Given the description of an element on the screen output the (x, y) to click on. 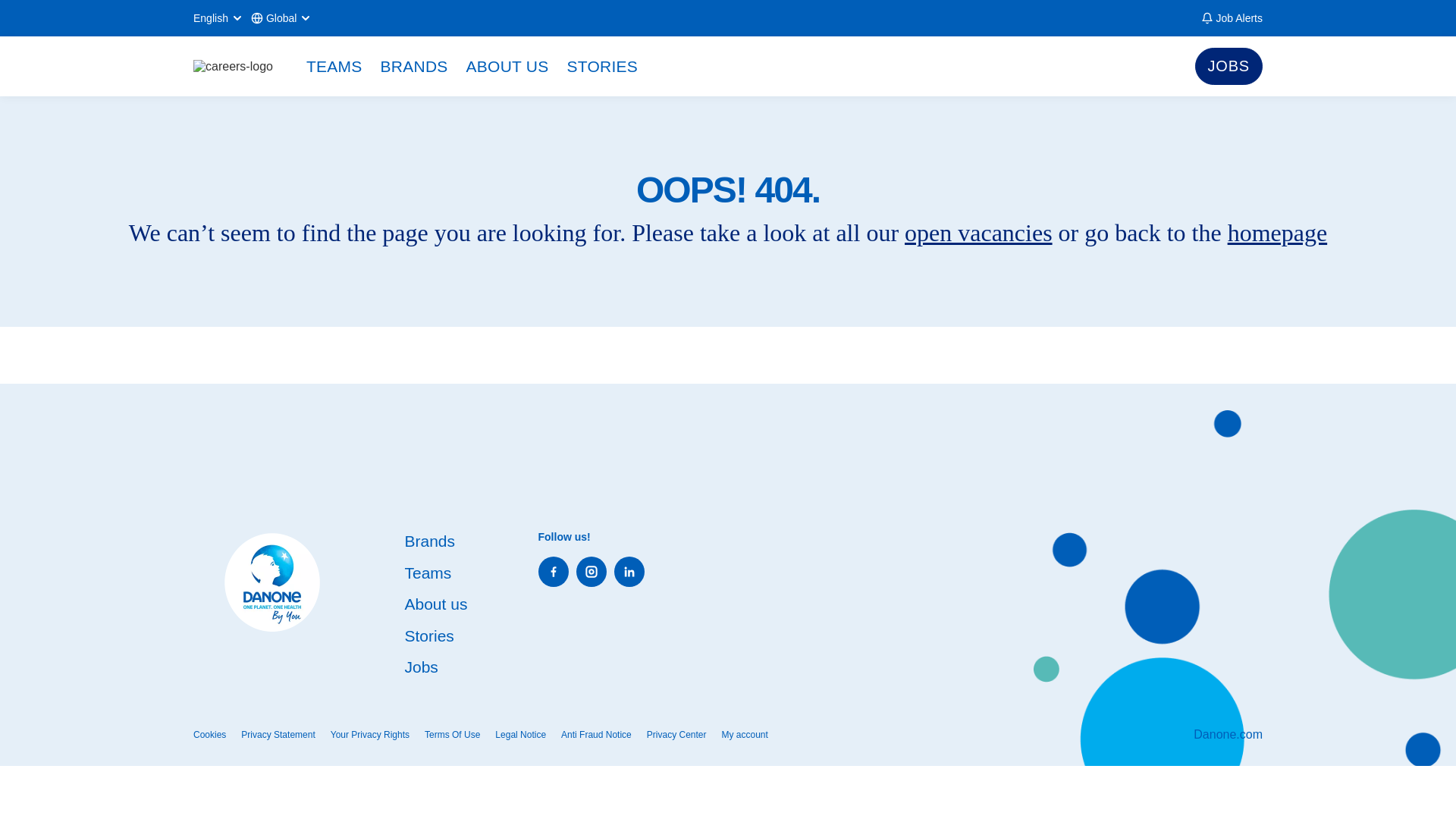
Privacy Center (676, 734)
English (218, 18)
About us (435, 603)
JOBS (1228, 66)
My account (745, 734)
Legal Notice (520, 734)
Anti Fraud Notice (595, 734)
Job Alerts (1231, 18)
homepage (1277, 232)
open vacancies (978, 232)
Terms Of Use (452, 734)
Privacy Statement (277, 734)
Stories (429, 634)
Global (280, 18)
Your Privacy Rights (369, 734)
